Given the description of an element on the screen output the (x, y) to click on. 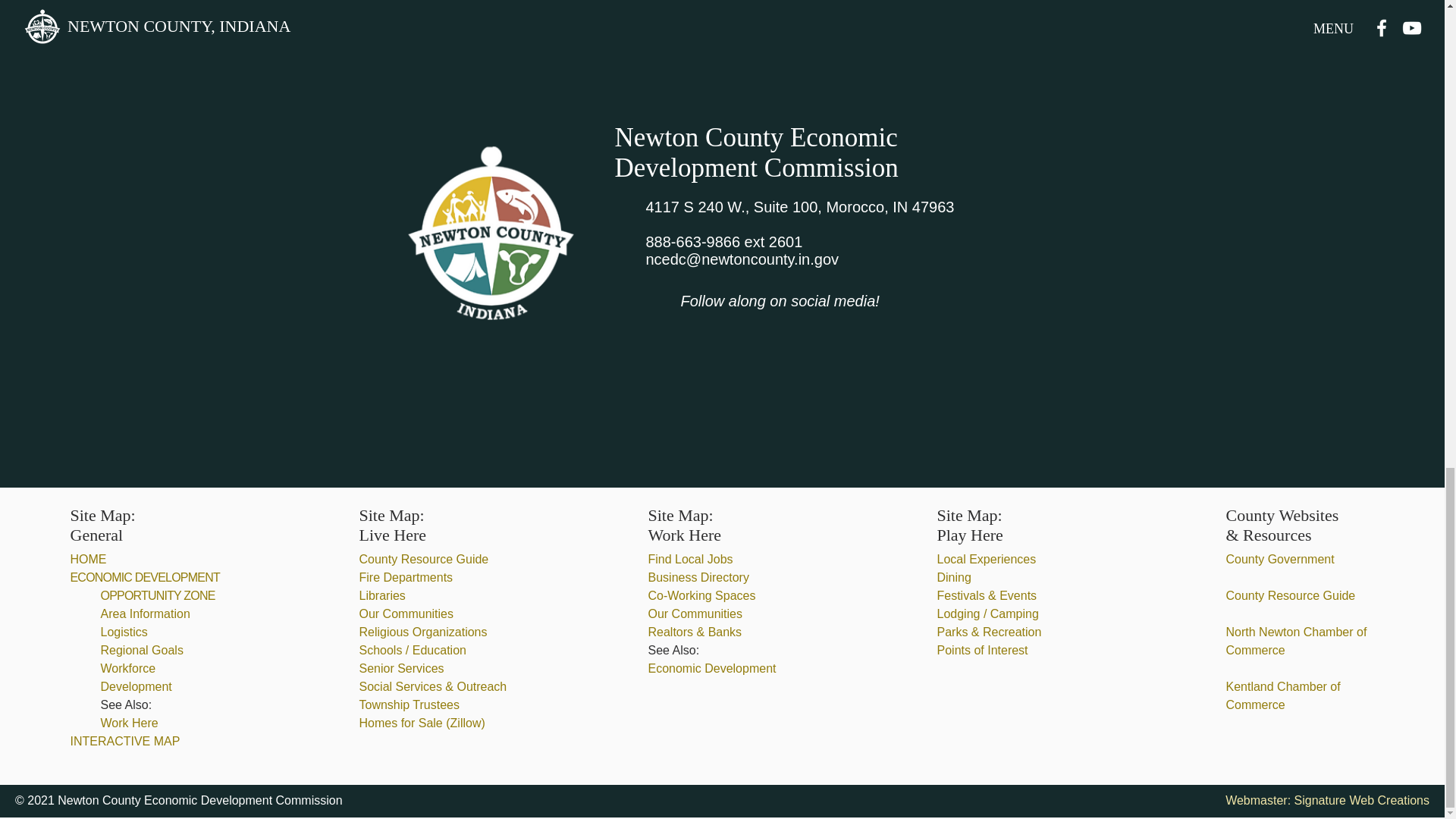
Homes for Sale  (402, 722)
Senior Services (401, 667)
HOME (87, 558)
Workforce Development (135, 676)
Prev (604, 13)
All Destinations (722, 13)
ECONOMIC DEVELOPMENT (144, 576)
Our Communities (405, 613)
Work Here (128, 722)
Fire Departments (405, 576)
Next (841, 13)
County Resource Guide (424, 558)
Libraries (382, 594)
Logistics (123, 631)
Regional Goals (141, 649)
